Given the description of an element on the screen output the (x, y) to click on. 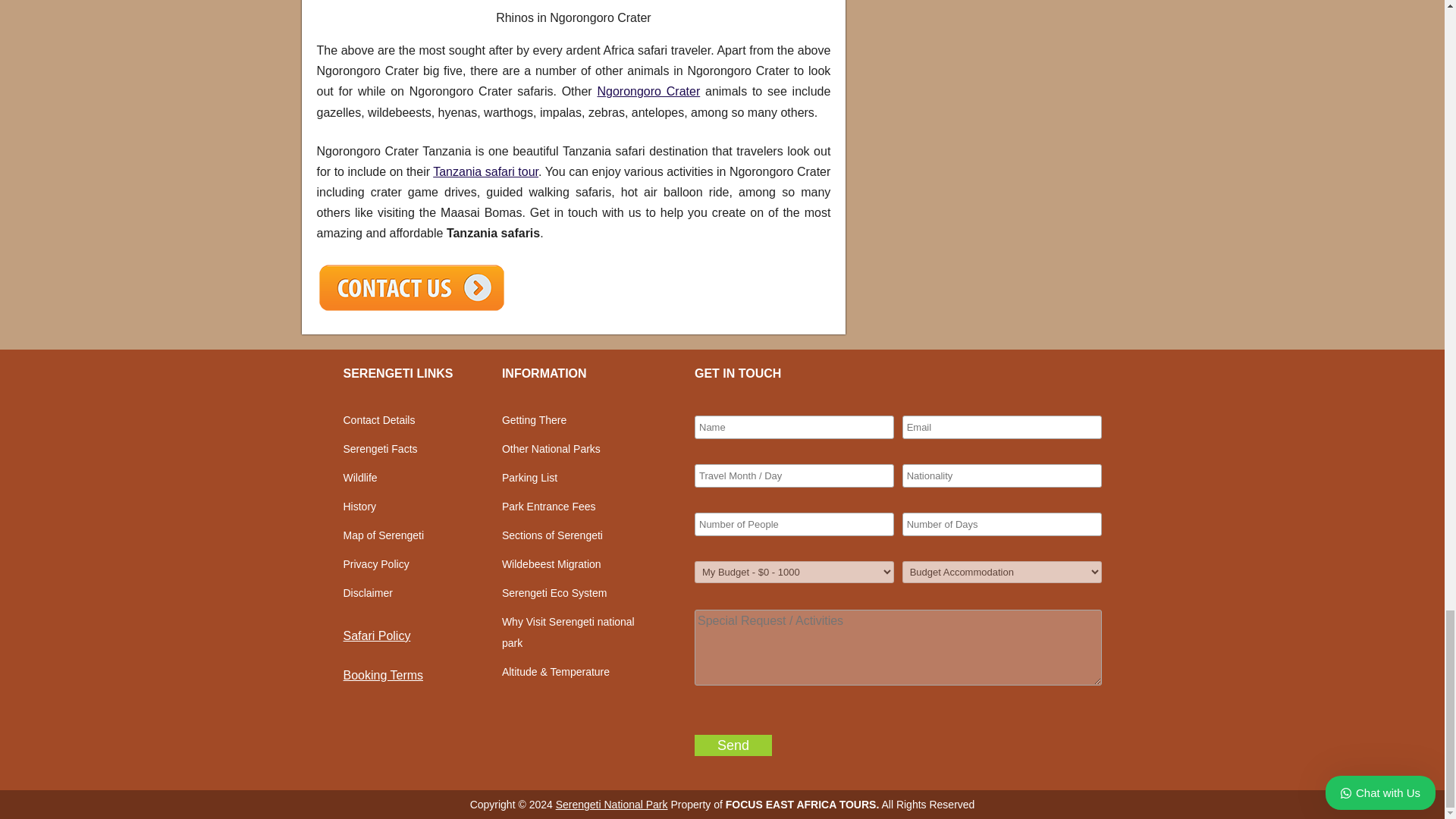
Send (732, 744)
Tanzania safari tour (485, 171)
Ngorongoro Crater (648, 91)
